Given the description of an element on the screen output the (x, y) to click on. 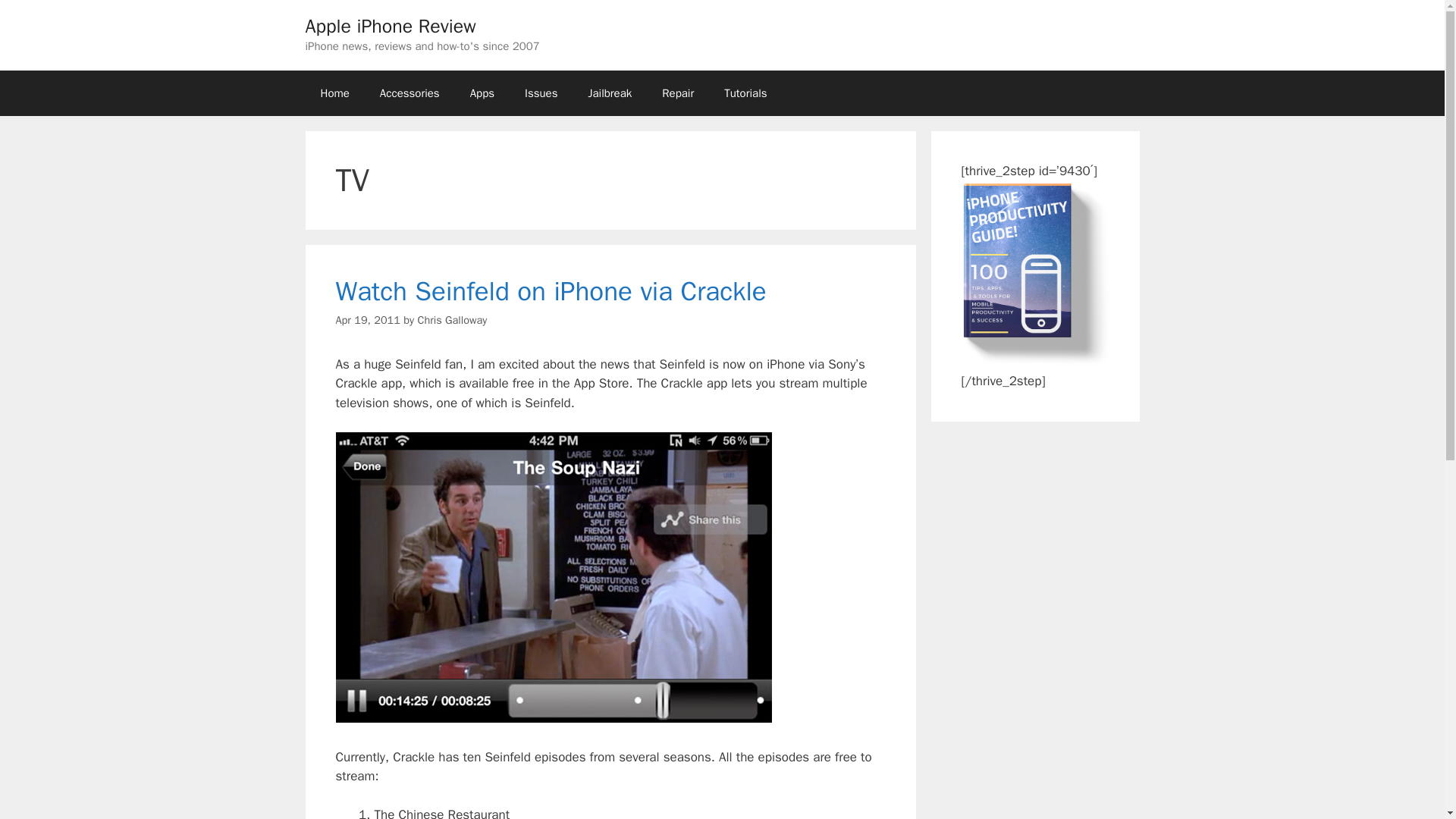
Tutorials (745, 92)
Issues (540, 92)
Apple iPhone Review (390, 25)
Chris Galloway (451, 319)
Apps (481, 92)
Accessories (409, 92)
Watch Seinfeld on iPhone via Crackle (549, 290)
Jailbreak (609, 92)
View all posts by Chris Galloway (451, 319)
Home (334, 92)
